Given the description of an element on the screen output the (x, y) to click on. 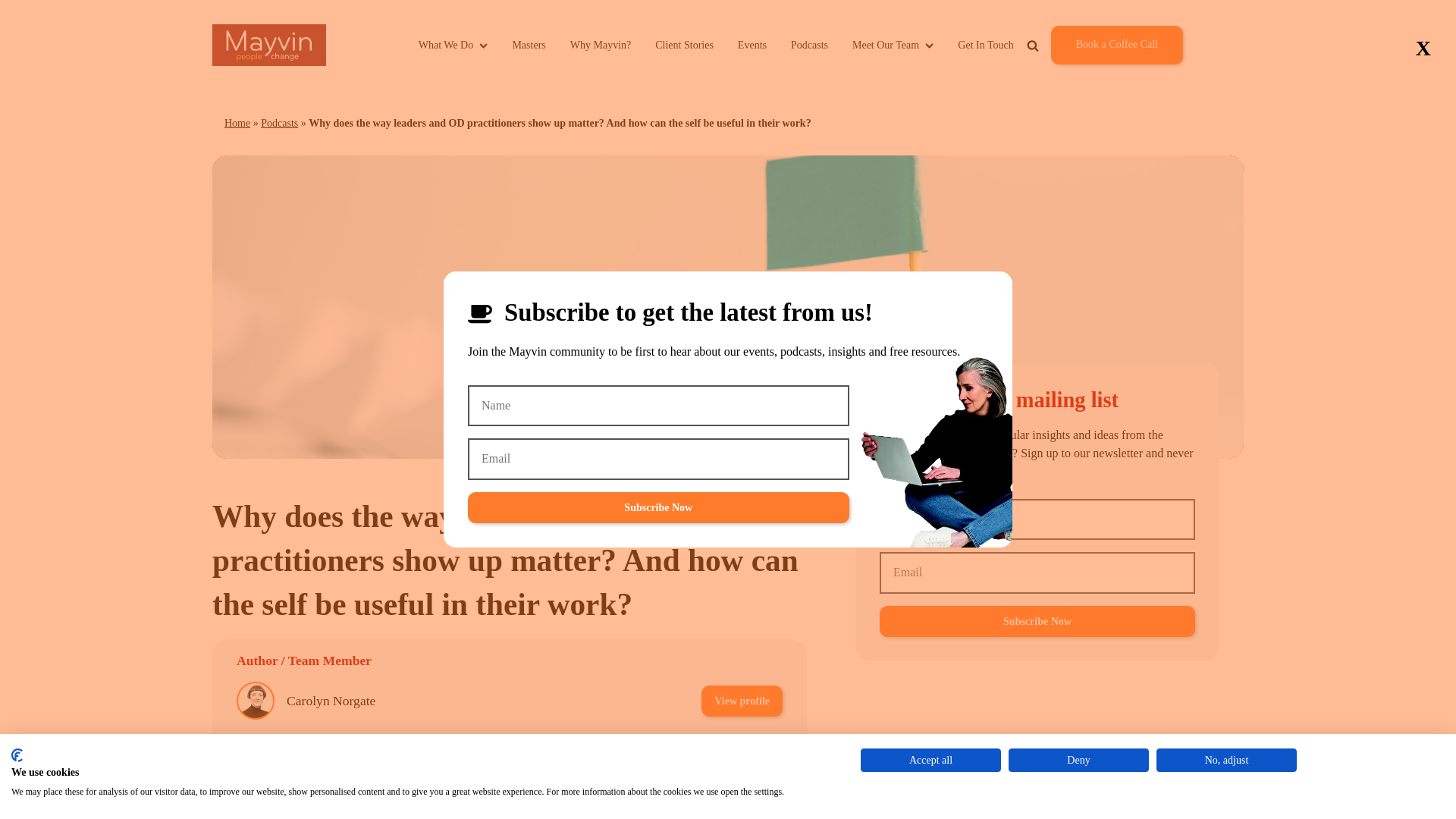
Accept all (930, 760)
View profile (742, 700)
View profile (742, 753)
Why Mayvin? (600, 45)
Search (1078, 80)
Subscribe Now (1037, 621)
Podcasts (809, 45)
Book a Coffee Call (1116, 44)
Podcasts (279, 122)
Meet Our Team (892, 45)
Subscribe Now (657, 507)
Martin Saville (324, 753)
Masters (528, 45)
Home (237, 122)
Organisation Development (513, 805)
